Given the description of an element on the screen output the (x, y) to click on. 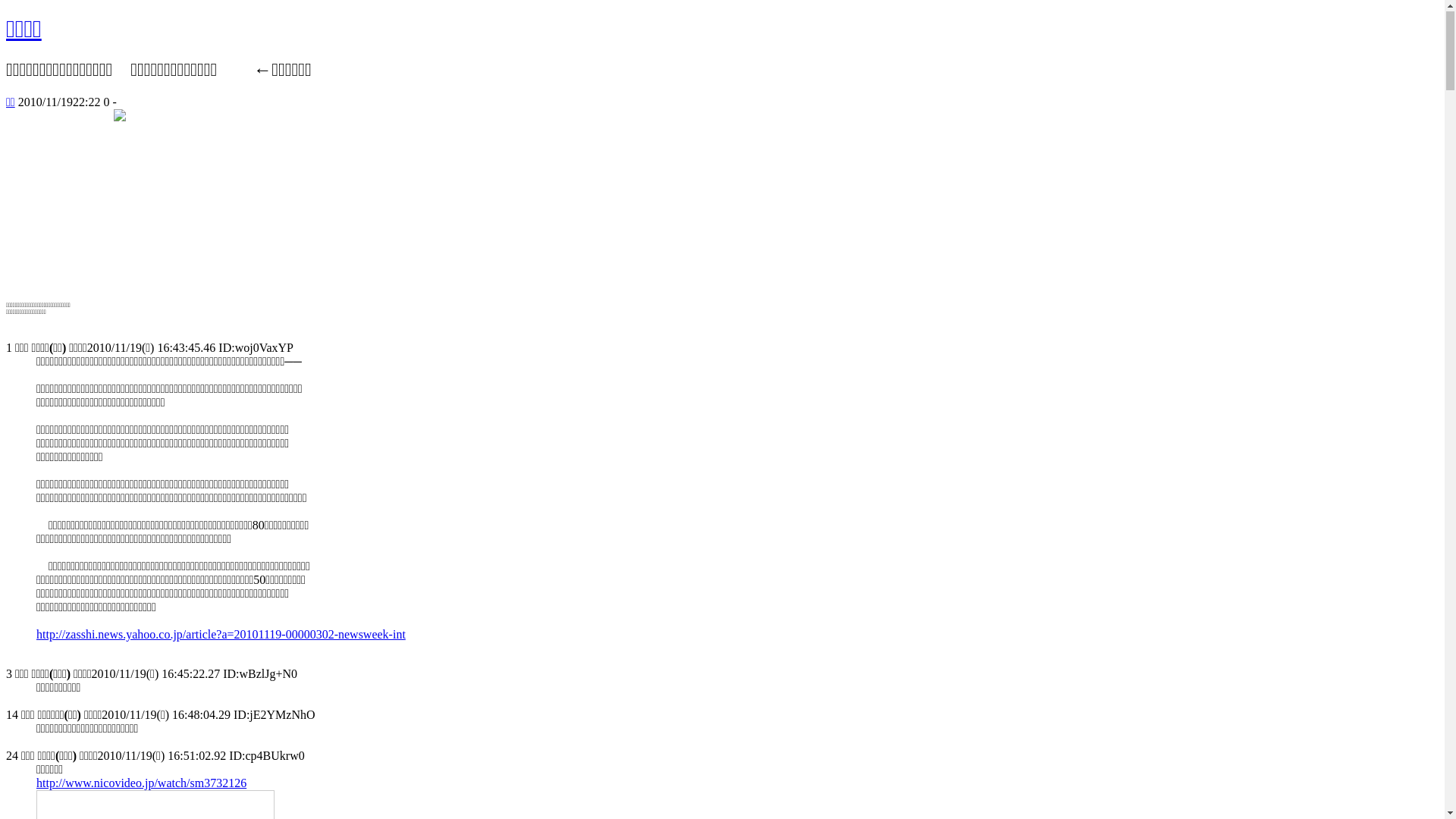
http://www.nicovideo.jp/watch/sm3732126 Element type: text (141, 783)
